Given the description of an element on the screen output the (x, y) to click on. 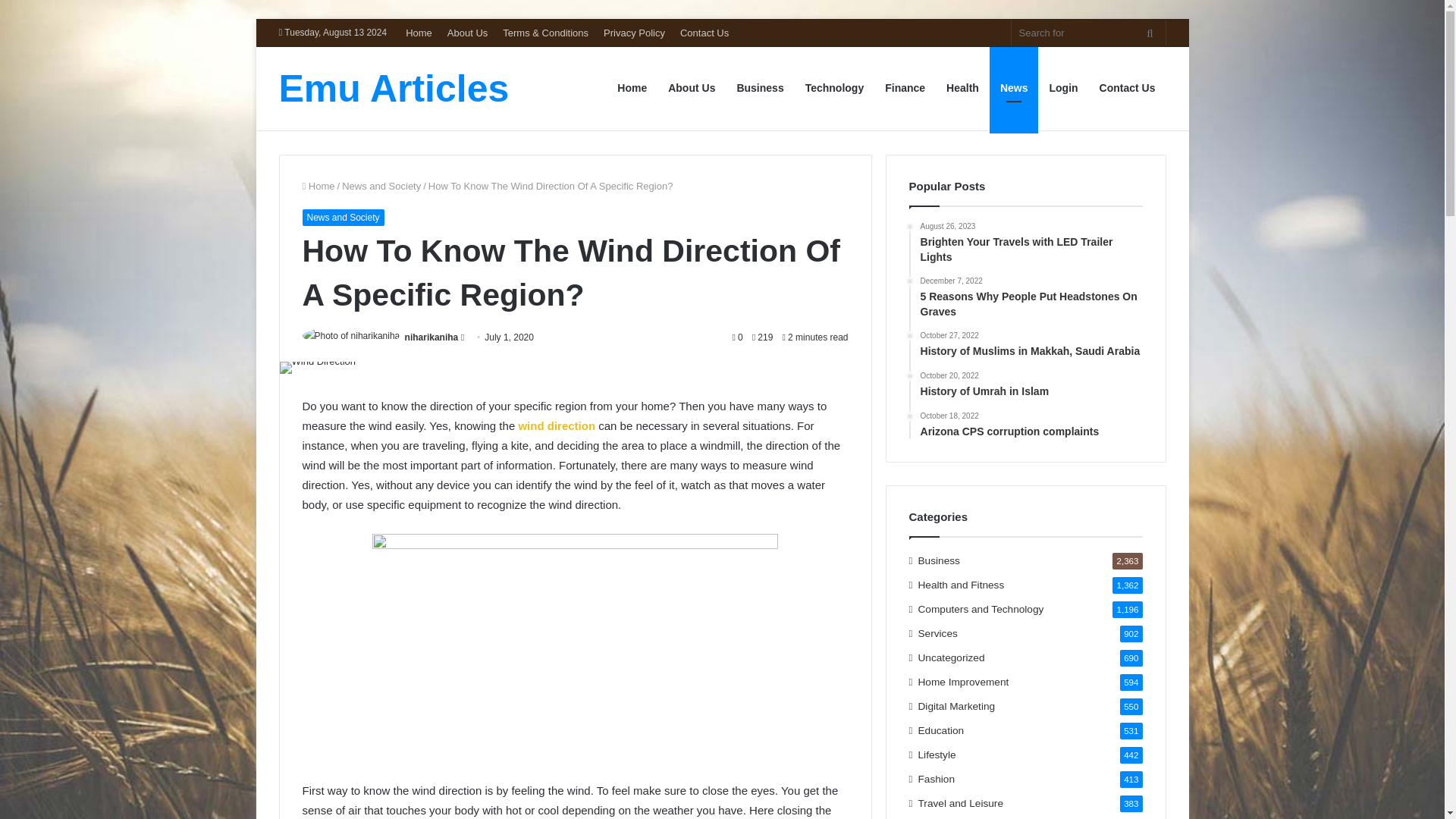
niharikaniha (431, 337)
Emu Articles (394, 88)
Contact Us (704, 32)
Search for (1150, 32)
Contact Us (1127, 87)
Privacy Policy (633, 32)
News and Society (381, 185)
wind direction (558, 425)
About Us (467, 32)
niharikaniha (431, 337)
